Given the description of an element on the screen output the (x, y) to click on. 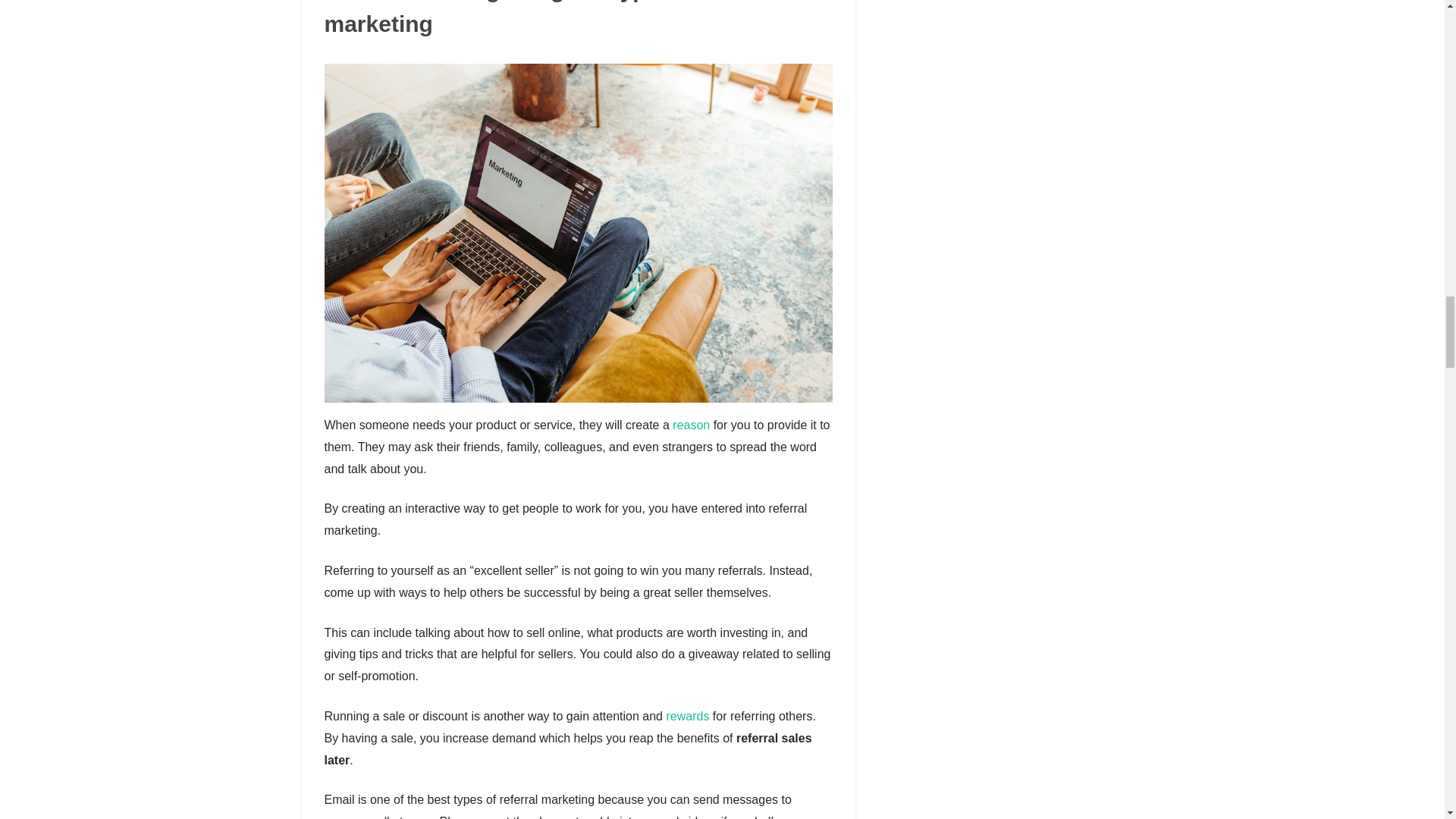
rewards (687, 716)
reason (691, 424)
